Given the description of an element on the screen output the (x, y) to click on. 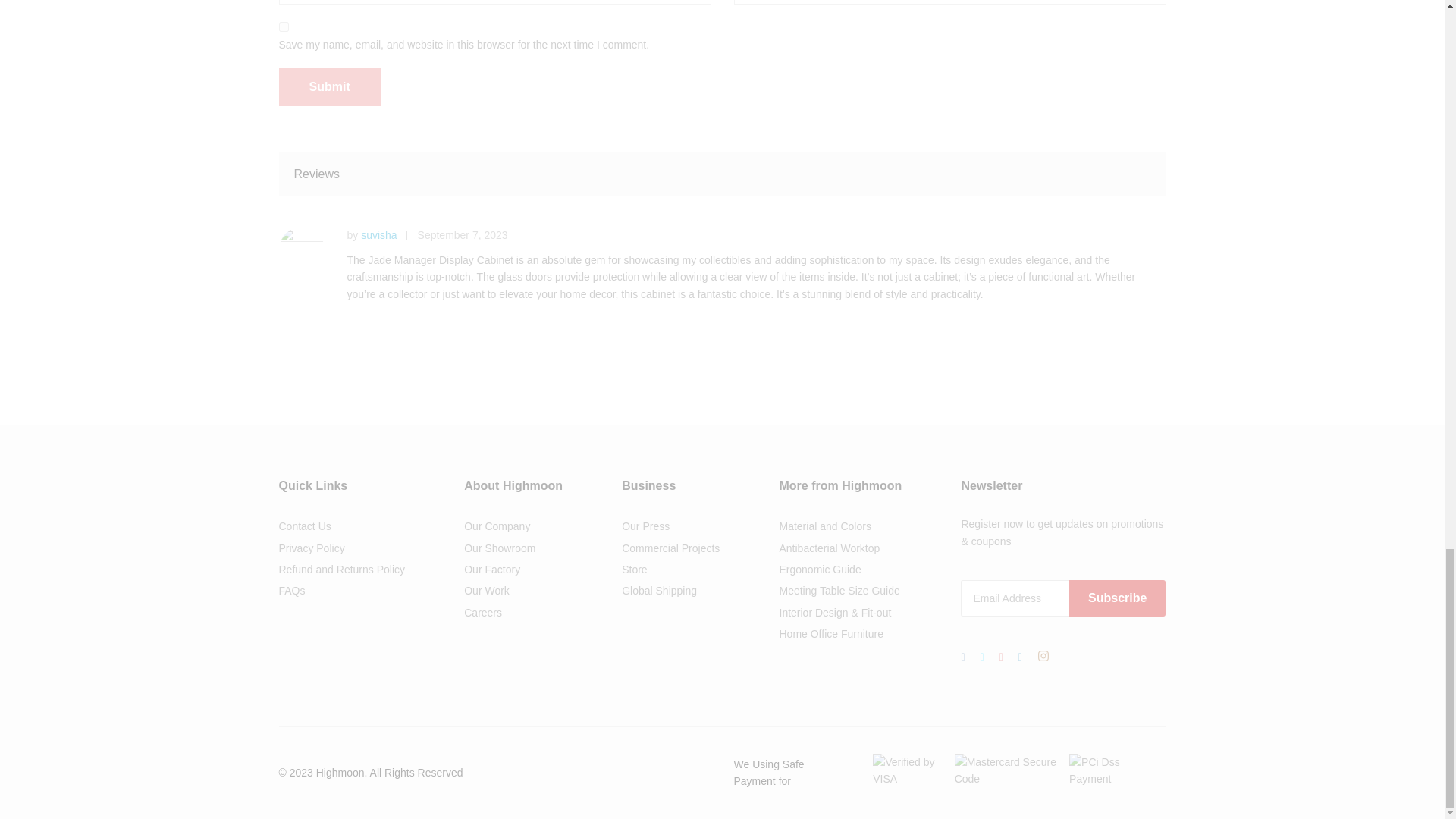
Instagram (1043, 656)
Facebook (962, 656)
Youtube (1000, 656)
Subscribe (1117, 597)
yes (283, 26)
Linkedin (1019, 656)
Submit (329, 86)
Twitter (981, 656)
